Given the description of an element on the screen output the (x, y) to click on. 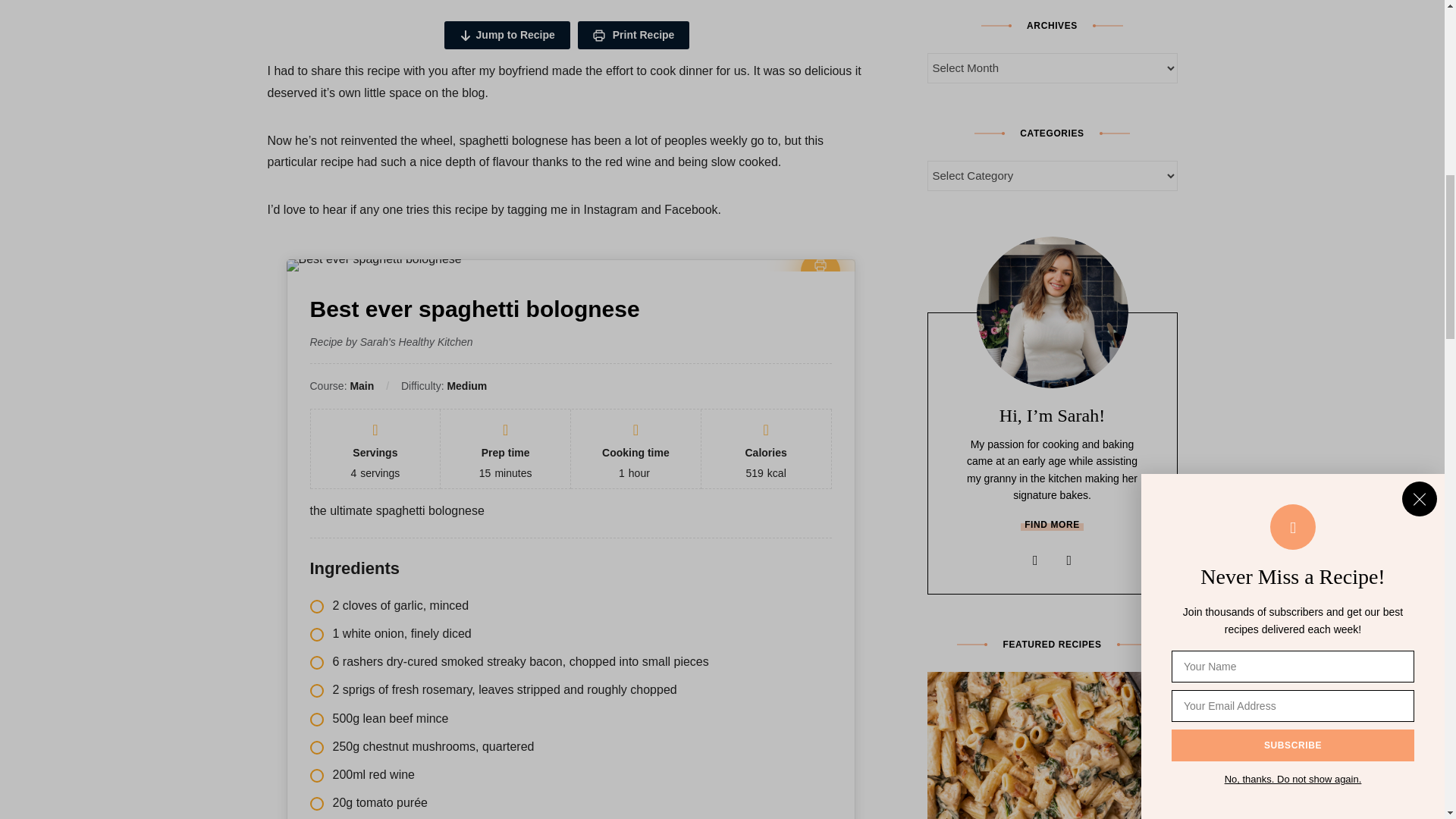
Print directions... (820, 271)
